Given the description of an element on the screen output the (x, y) to click on. 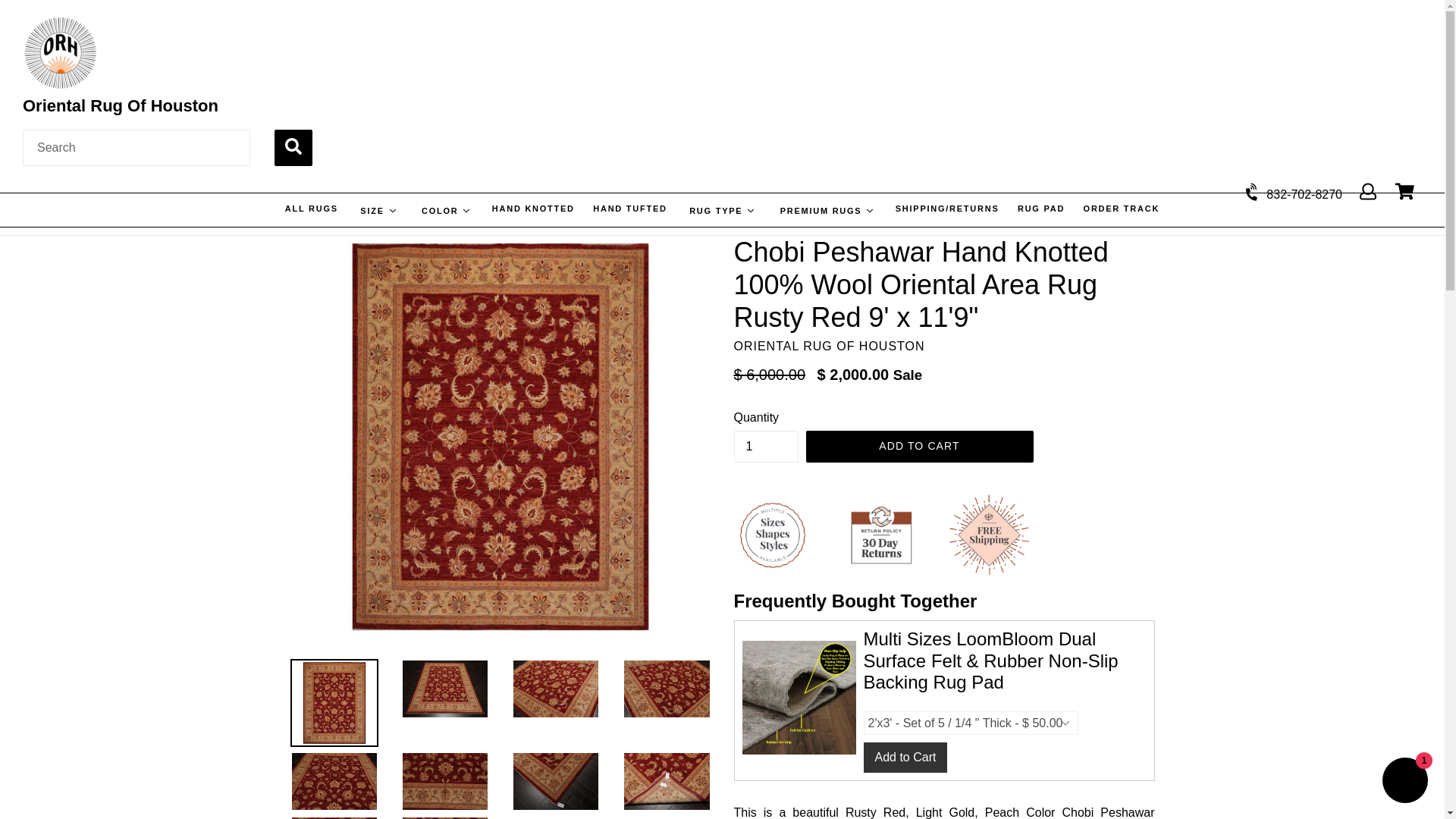
1 (765, 445)
Shopify online store chat (1404, 781)
